Given the description of an element on the screen output the (x, y) to click on. 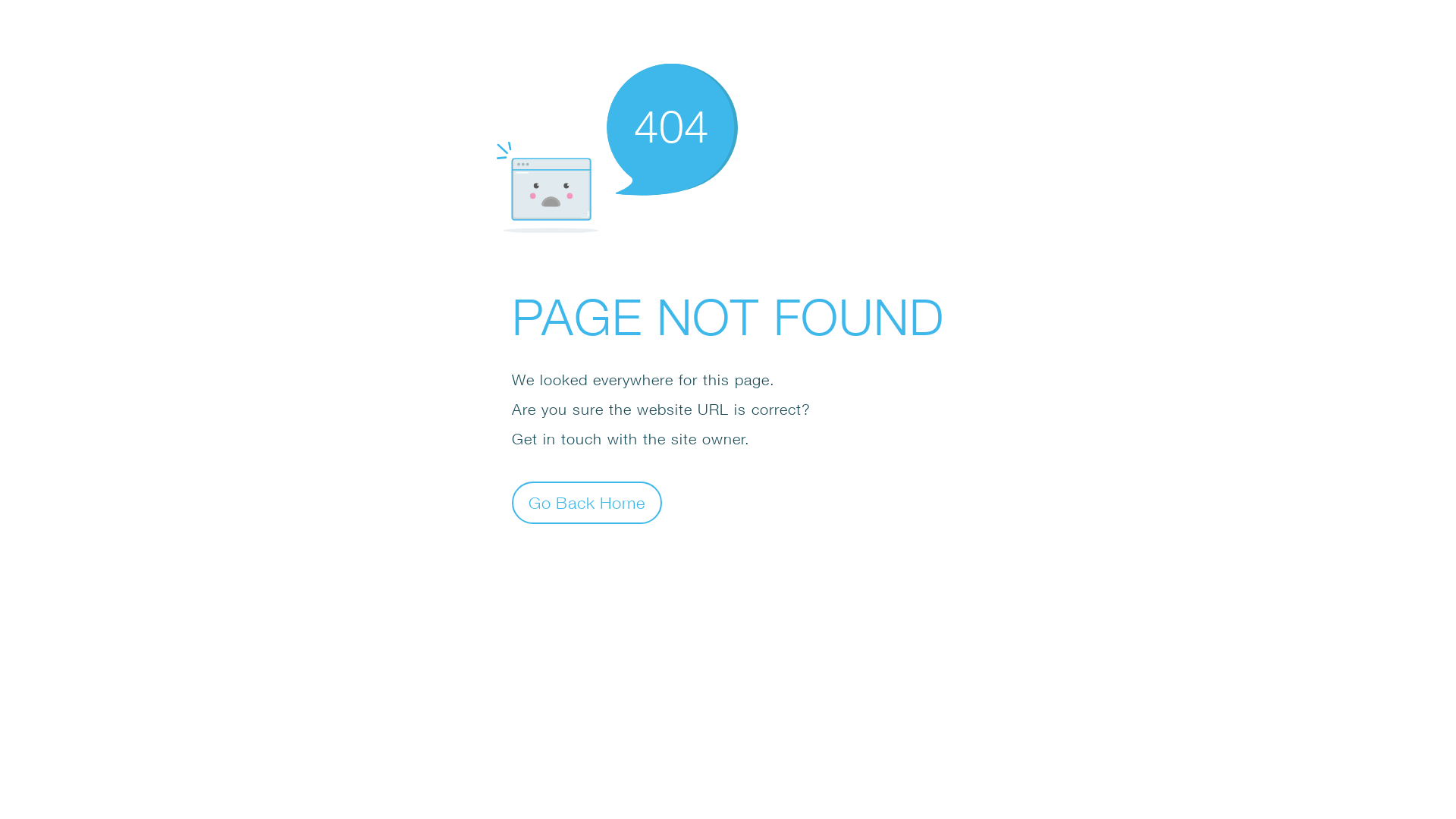
Go Back Home Element type: text (586, 502)
